Given the description of an element on the screen output the (x, y) to click on. 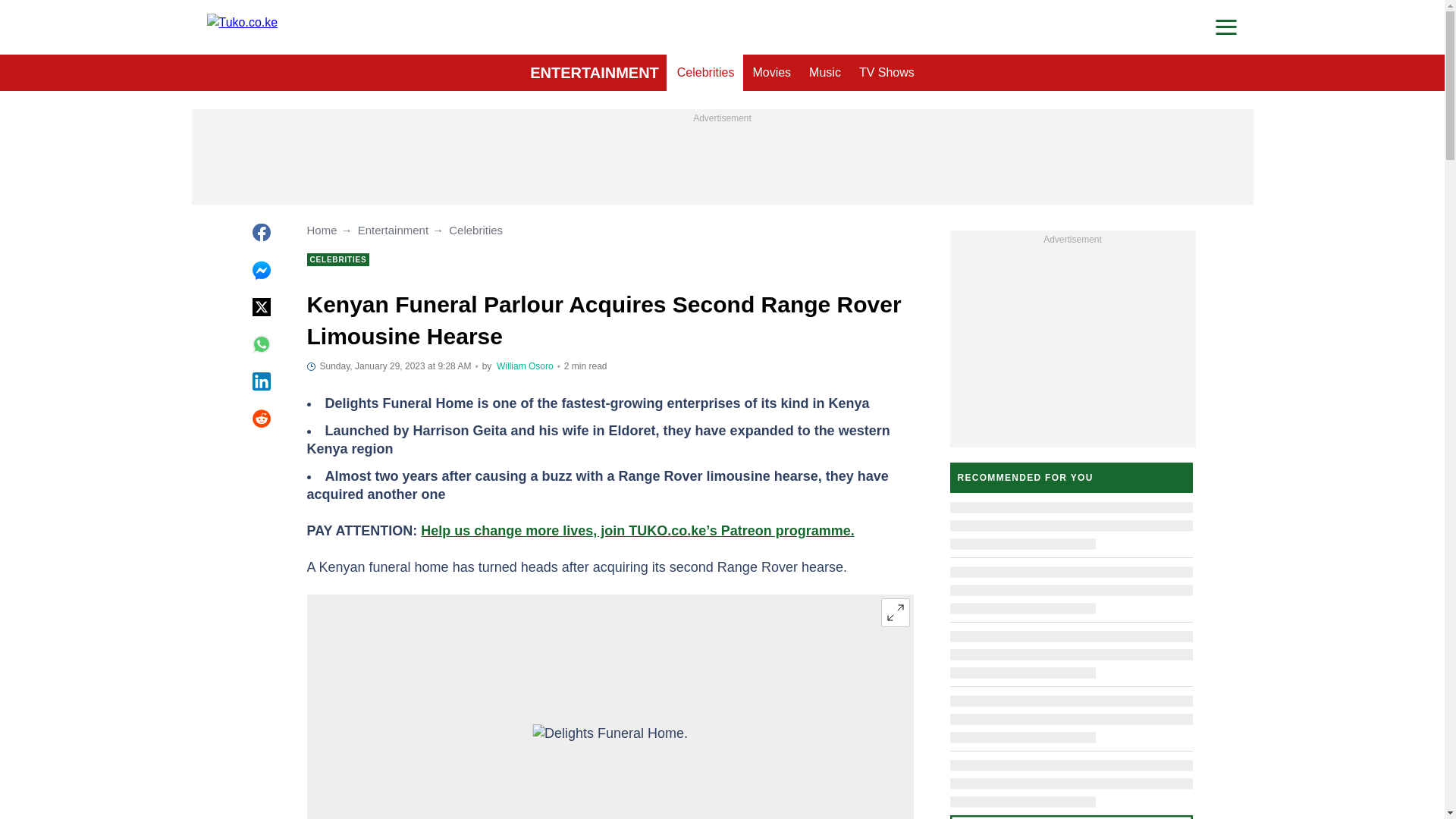
Celebrities (706, 72)
Music (824, 72)
ENTERTAINMENT (594, 72)
Delights Funeral Home. (609, 764)
TV Shows (886, 72)
Movies (770, 72)
Expand image (895, 612)
Author page (524, 366)
